Given the description of an element on the screen output the (x, y) to click on. 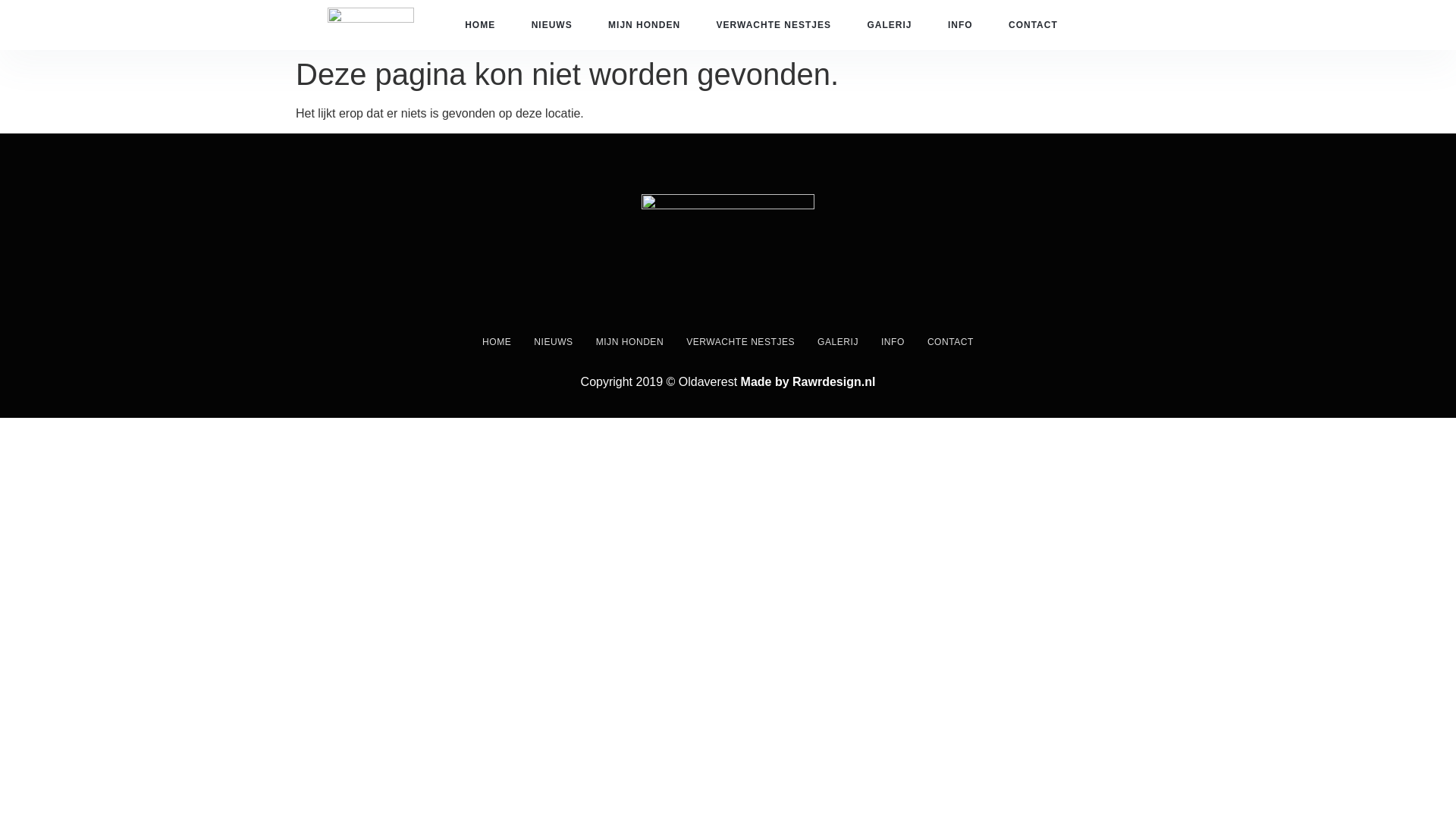
Dutch (1115, 14)
German (1145, 14)
MIJN HONDEN (643, 24)
NIEUWS (553, 341)
VERWACHTE NESTJES (739, 341)
INFO (960, 24)
MIJN HONDEN (629, 341)
VERWACHTE NESTJES (773, 24)
NIEUWS (551, 24)
CONTACT (1032, 24)
